Given the description of an element on the screen output the (x, y) to click on. 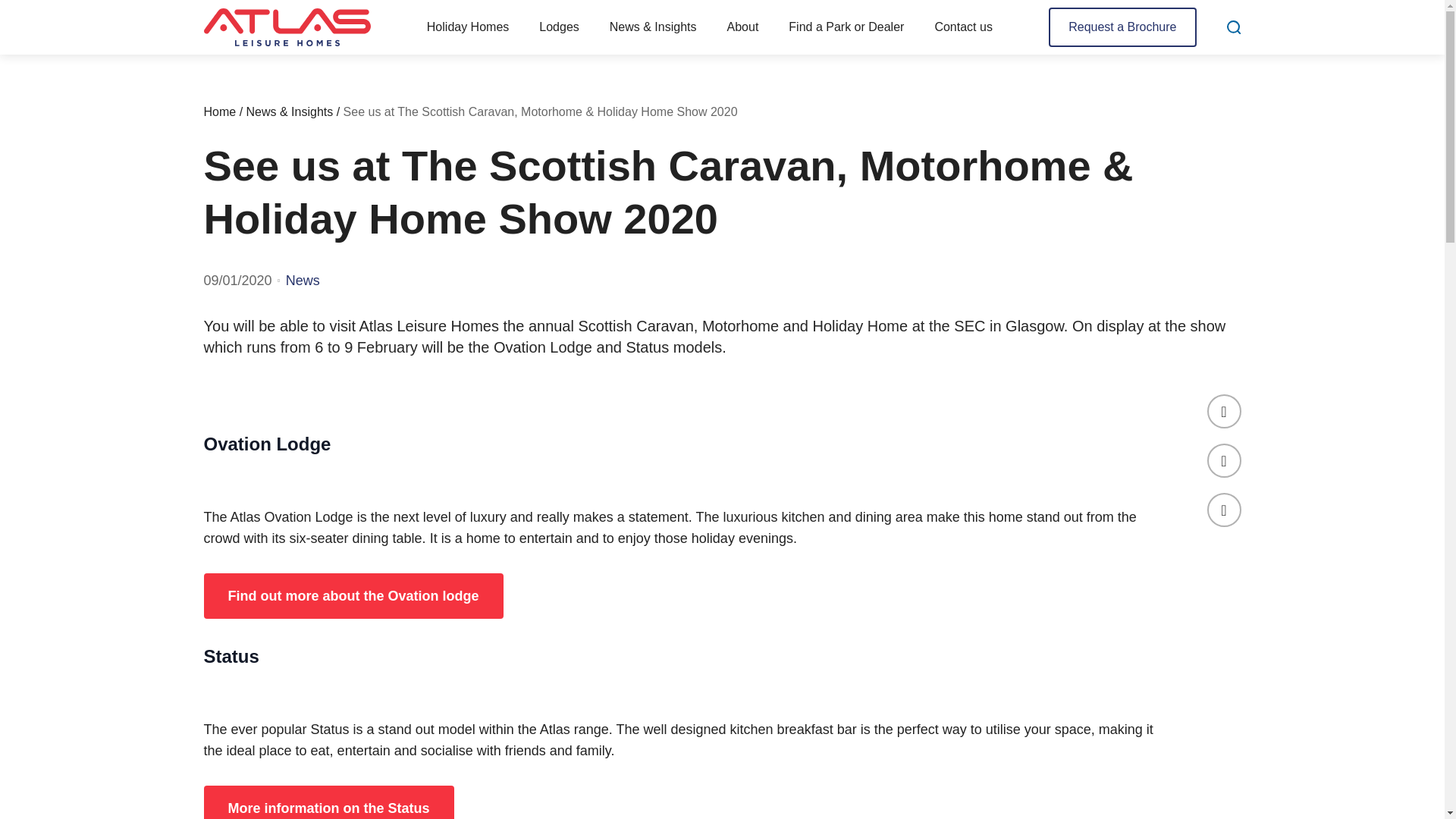
Find a Park or Dealer (846, 27)
Contact us (962, 27)
Lodges (558, 27)
Request a Brochure (1121, 26)
Lodges (558, 27)
Holiday Homes (467, 27)
Holiday Homes (467, 27)
Go to homepage (286, 26)
About (742, 27)
